Given the description of an element on the screen output the (x, y) to click on. 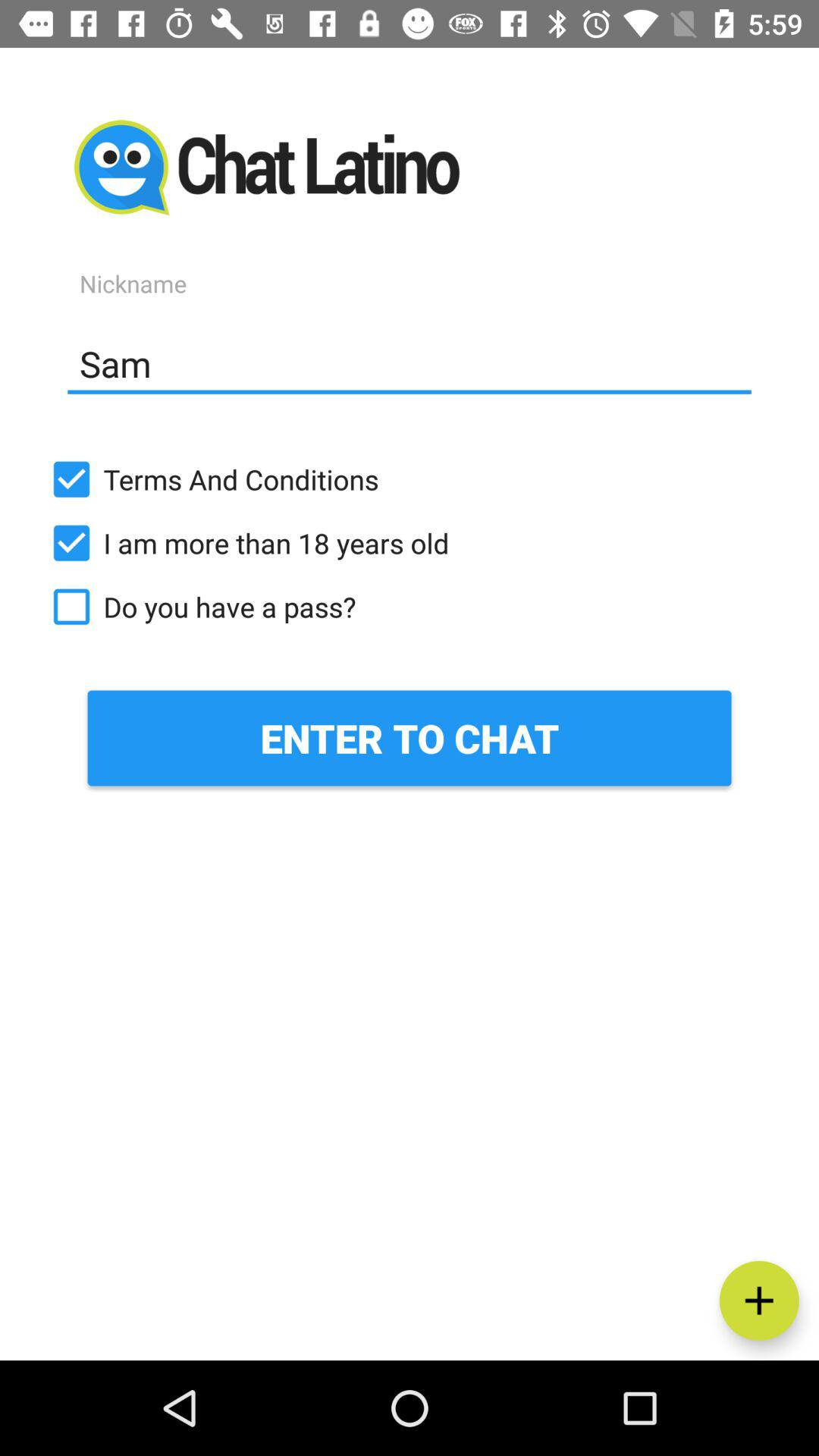
turn off item at the bottom right corner (759, 1300)
